Given the description of an element on the screen output the (x, y) to click on. 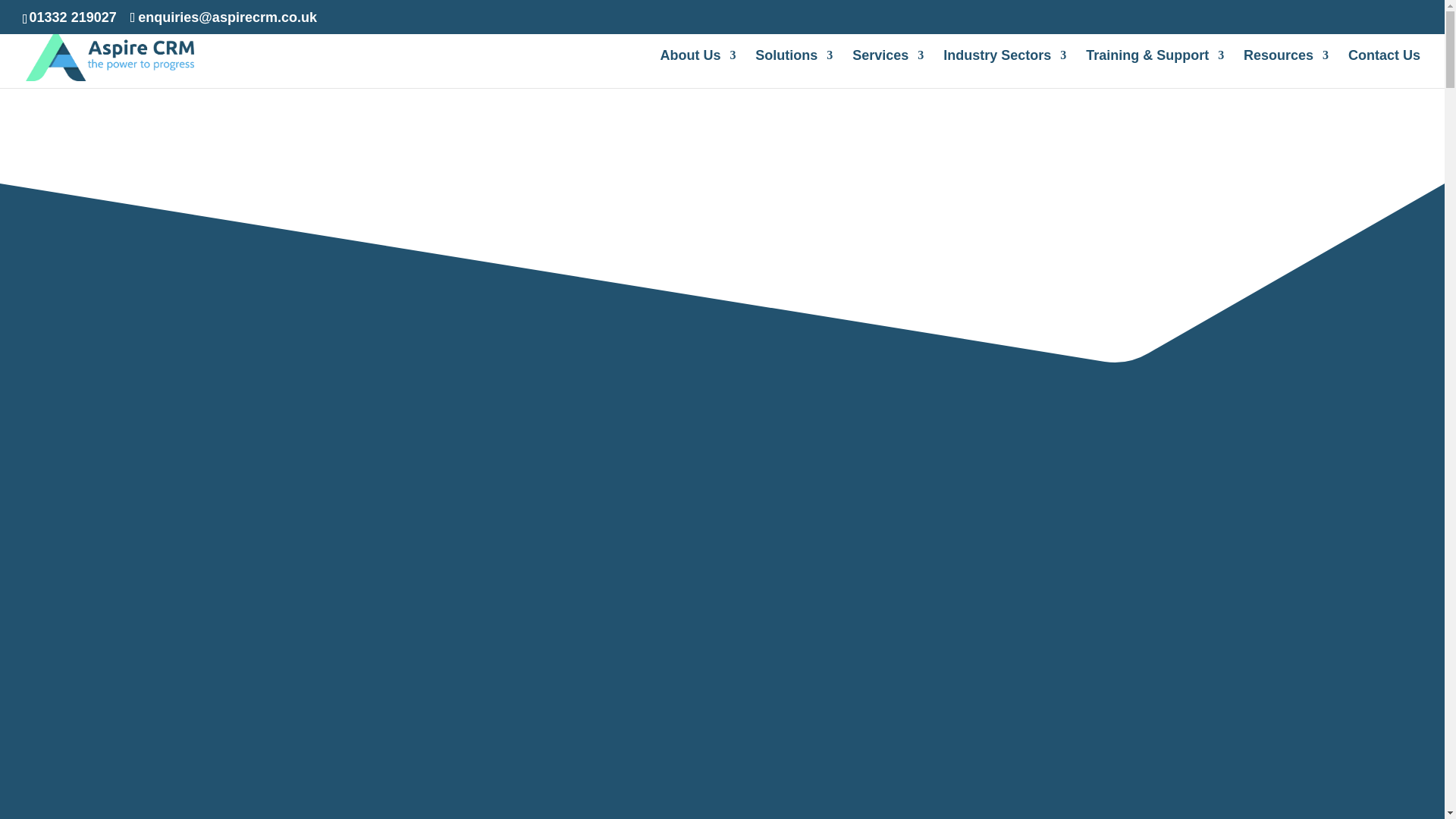
Resources (1285, 68)
About Us (697, 68)
Solutions (793, 68)
Contact Us (1384, 68)
Services (887, 68)
Industry Sectors (1004, 68)
